Given the description of an element on the screen output the (x, y) to click on. 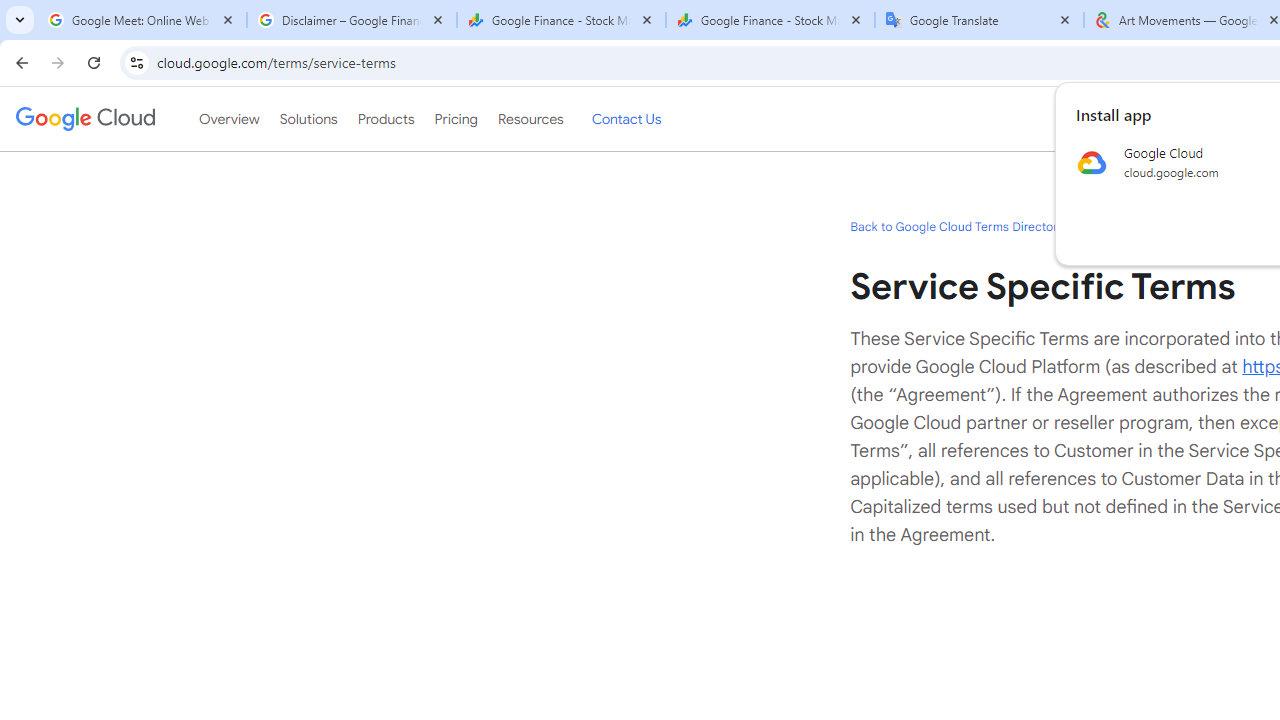
Products (385, 119)
Contact Us (626, 119)
Solutions (308, 119)
